Given the description of an element on the screen output the (x, y) to click on. 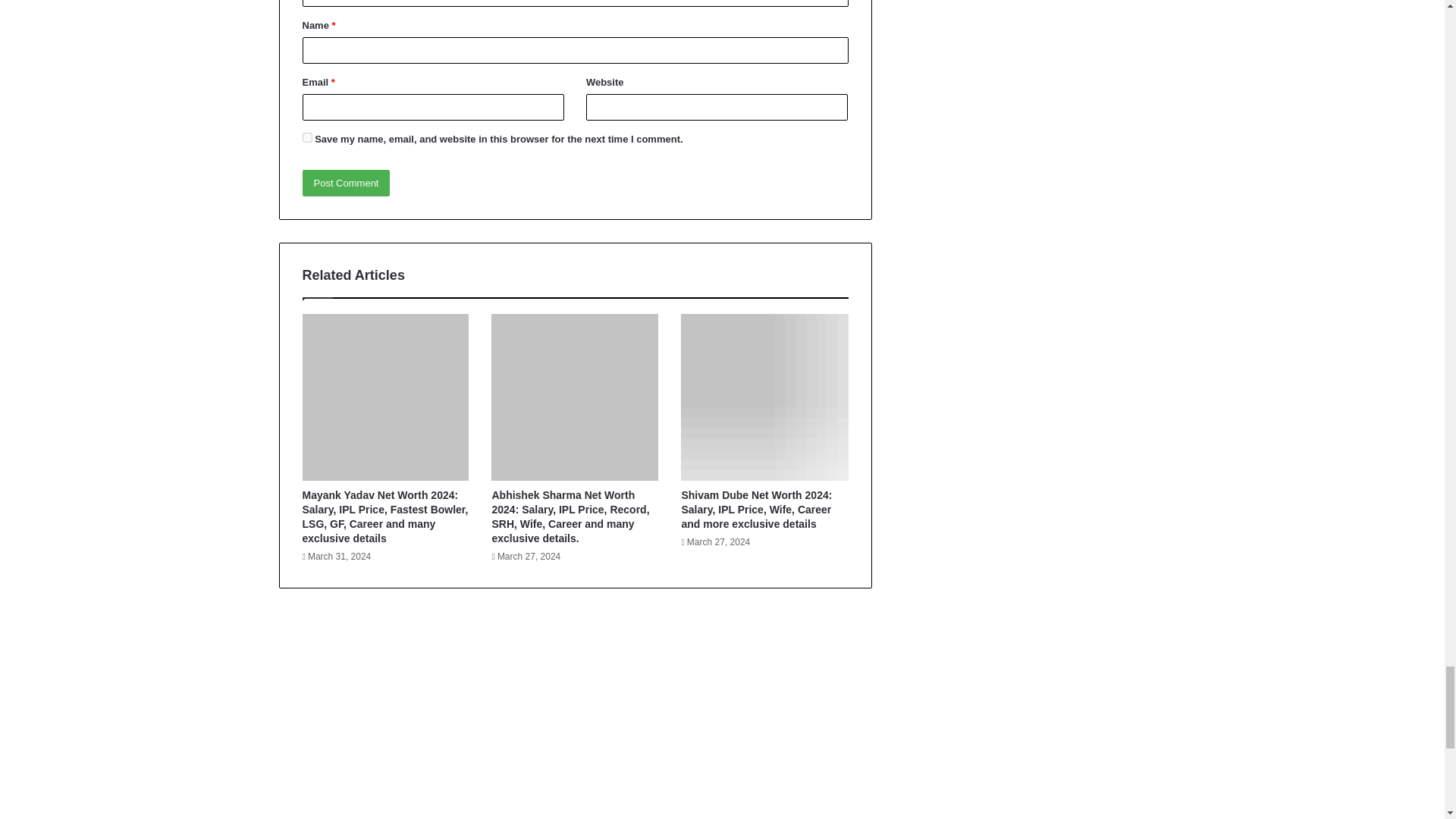
Post Comment (345, 182)
yes (306, 137)
